Given the description of an element on the screen output the (x, y) to click on. 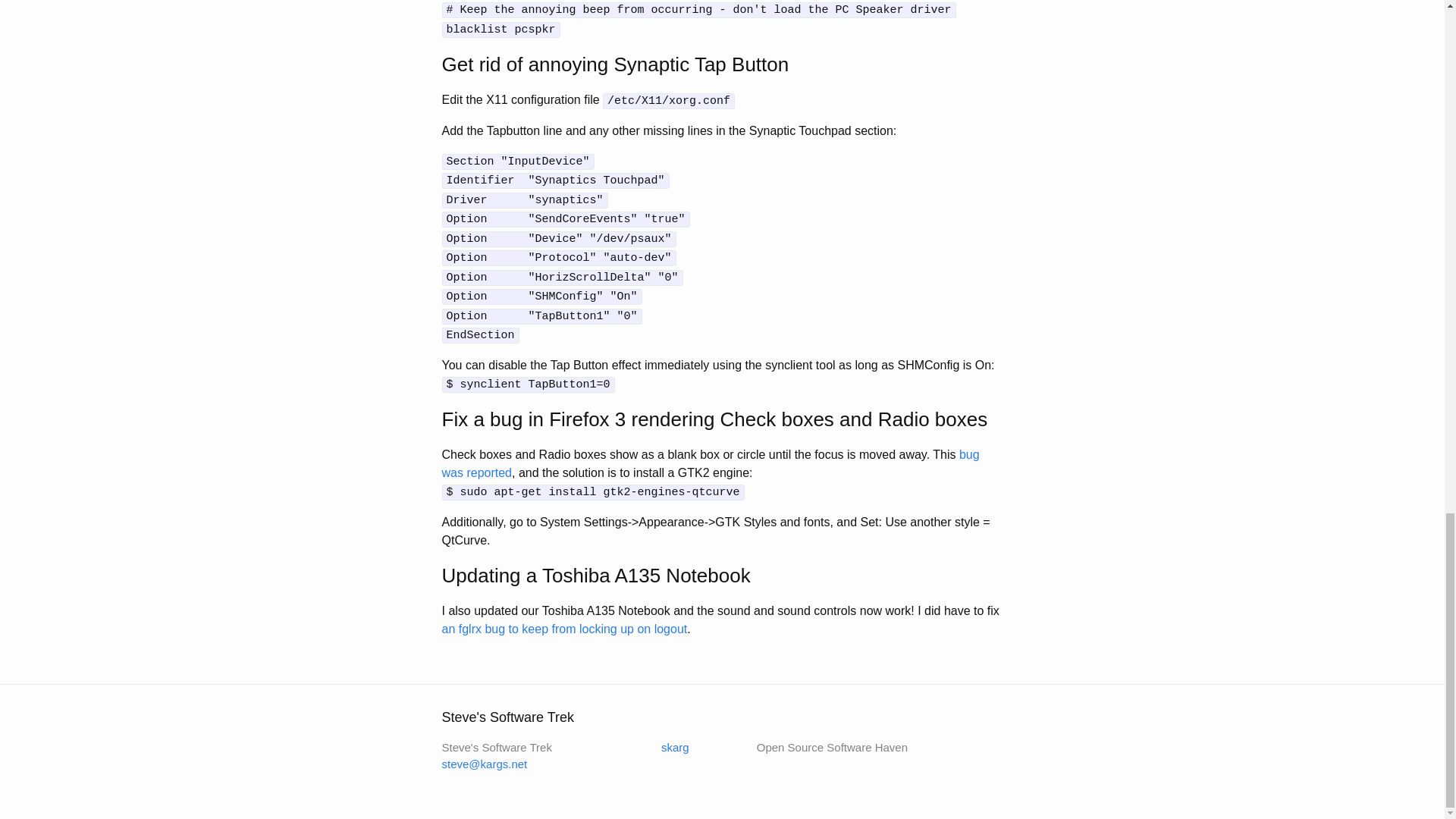
bug was reported (709, 463)
skarg (665, 747)
an fglrx bug to keep from locking up on logout (564, 628)
